Given the description of an element on the screen output the (x, y) to click on. 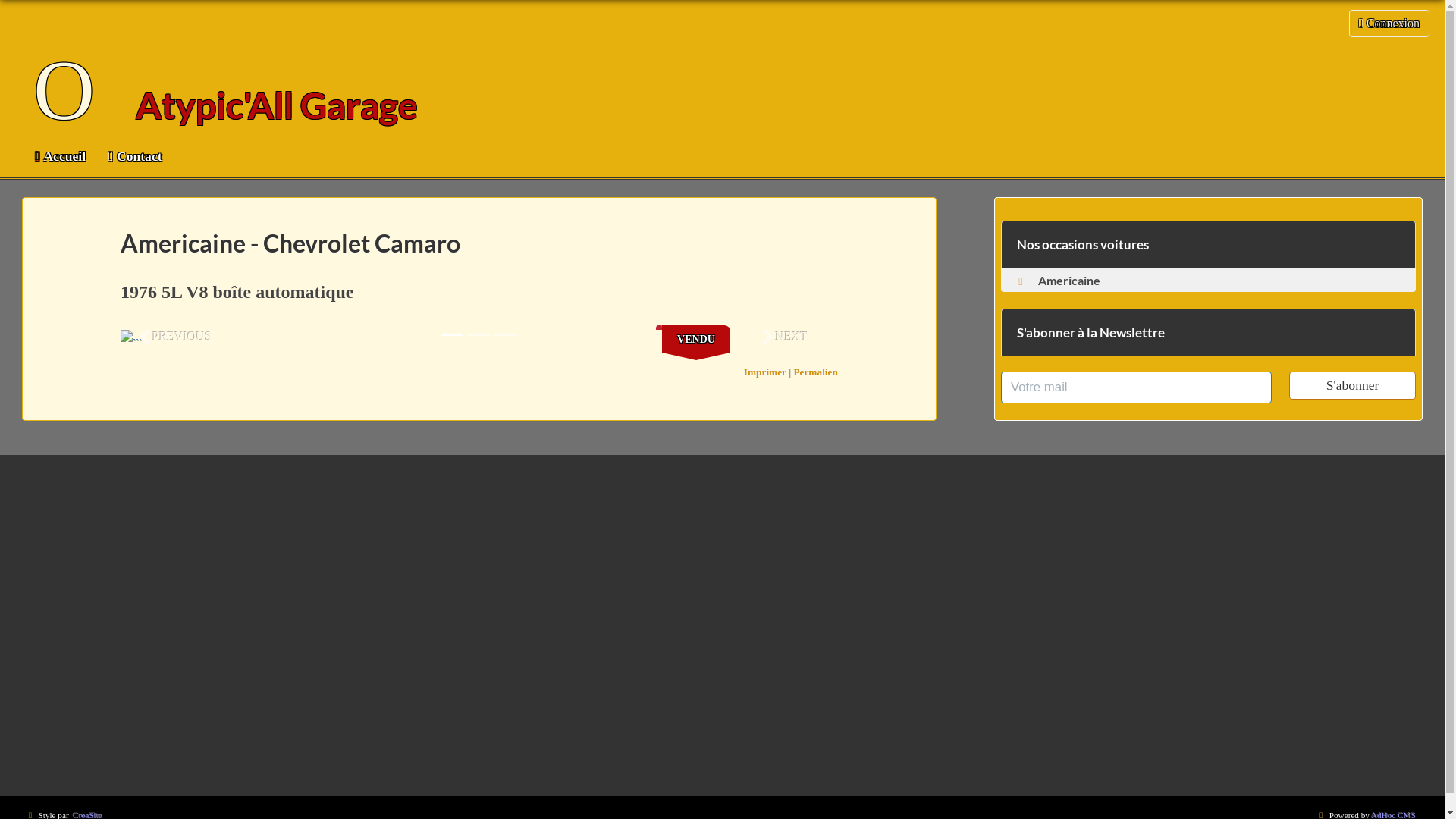
S'abonner Element type: text (1352, 385)
Connexion Element type: text (1389, 23)
Imprimer Element type: text (764, 371)
PREVIOUS Element type: text (174, 336)
Contact Element type: text (134, 155)
Accueil Element type: text (60, 155)
Permalien Element type: text (815, 371)
NEXT Element type: text (783, 336)
